Given the description of an element on the screen output the (x, y) to click on. 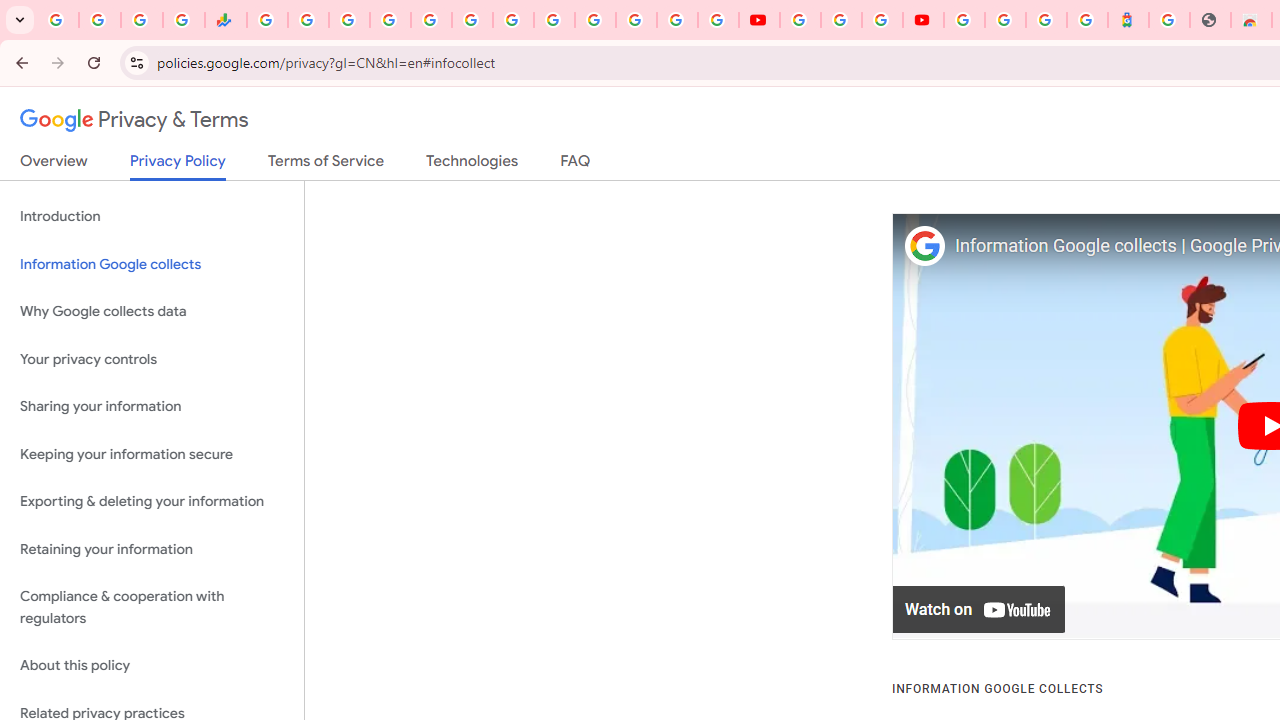
Sharing your information (152, 407)
Content Creator Programs & Opportunities - YouTube Creators (923, 20)
Sign in - Google Accounts (594, 20)
Compliance & cooperation with regulators (152, 607)
